Given the description of an element on the screen output the (x, y) to click on. 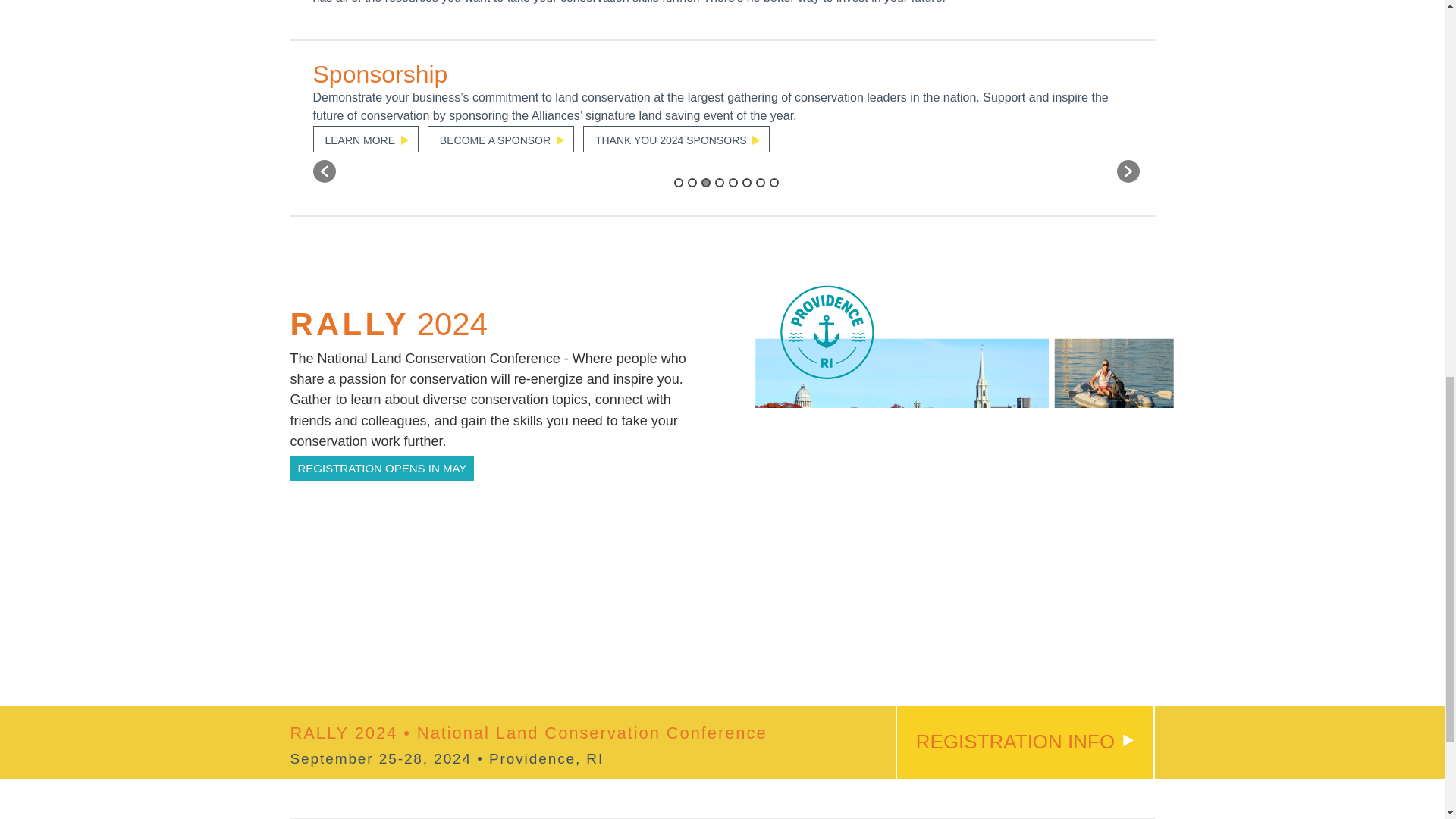
THANK YOU 2024 SPONSORS   (676, 139)
BECOME A SPONSOR   (500, 139)
LEARN MORE  (365, 139)
